Given the description of an element on the screen output the (x, y) to click on. 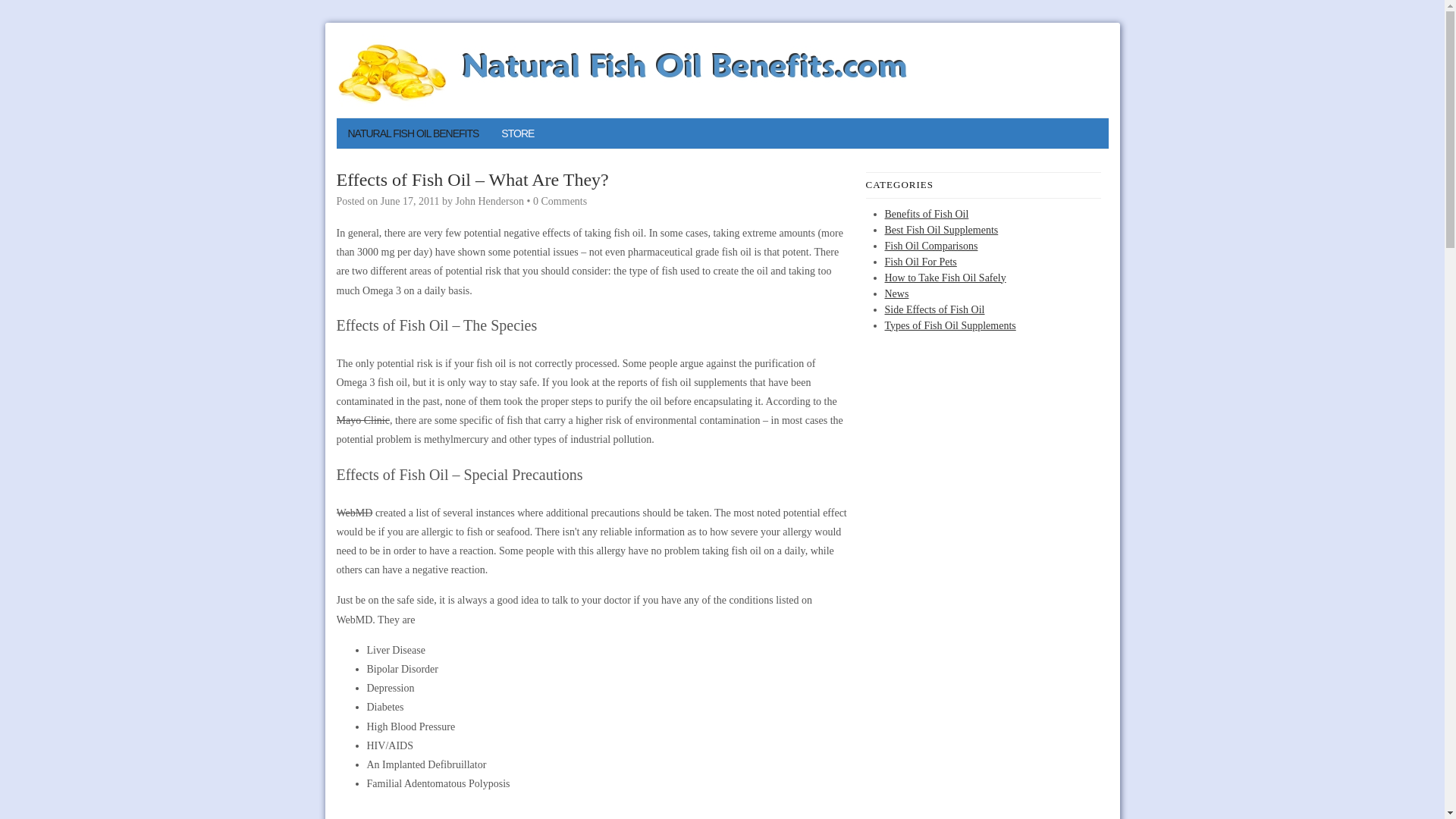
View all posts by John Henderson (489, 201)
WebMD (354, 512)
NATURAL FISH OIL BENEFITS (413, 132)
STORE (516, 132)
John Henderson (489, 201)
0 Comments (559, 201)
Mayo Clinic (363, 419)
